Given the description of an element on the screen output the (x, y) to click on. 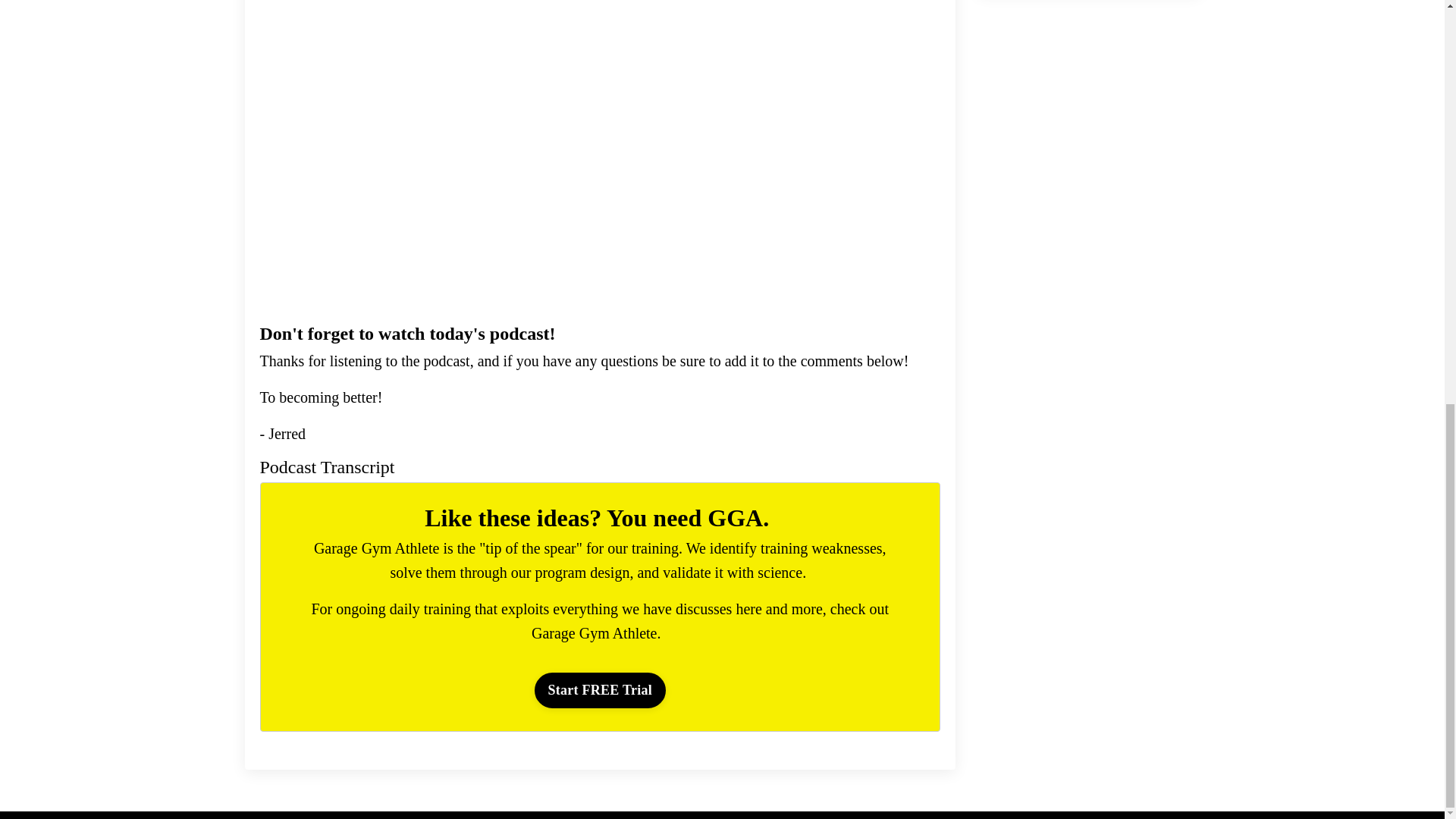
Start FREE Trial (599, 690)
check out Garage Gym Athlete (709, 620)
